Given the description of an element on the screen output the (x, y) to click on. 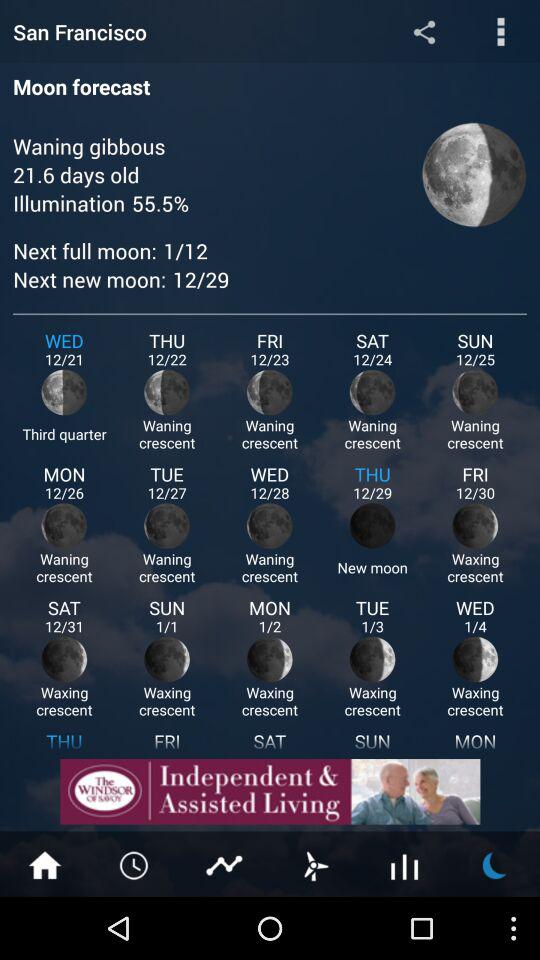
go to share option (424, 31)
